Given the description of an element on the screen output the (x, y) to click on. 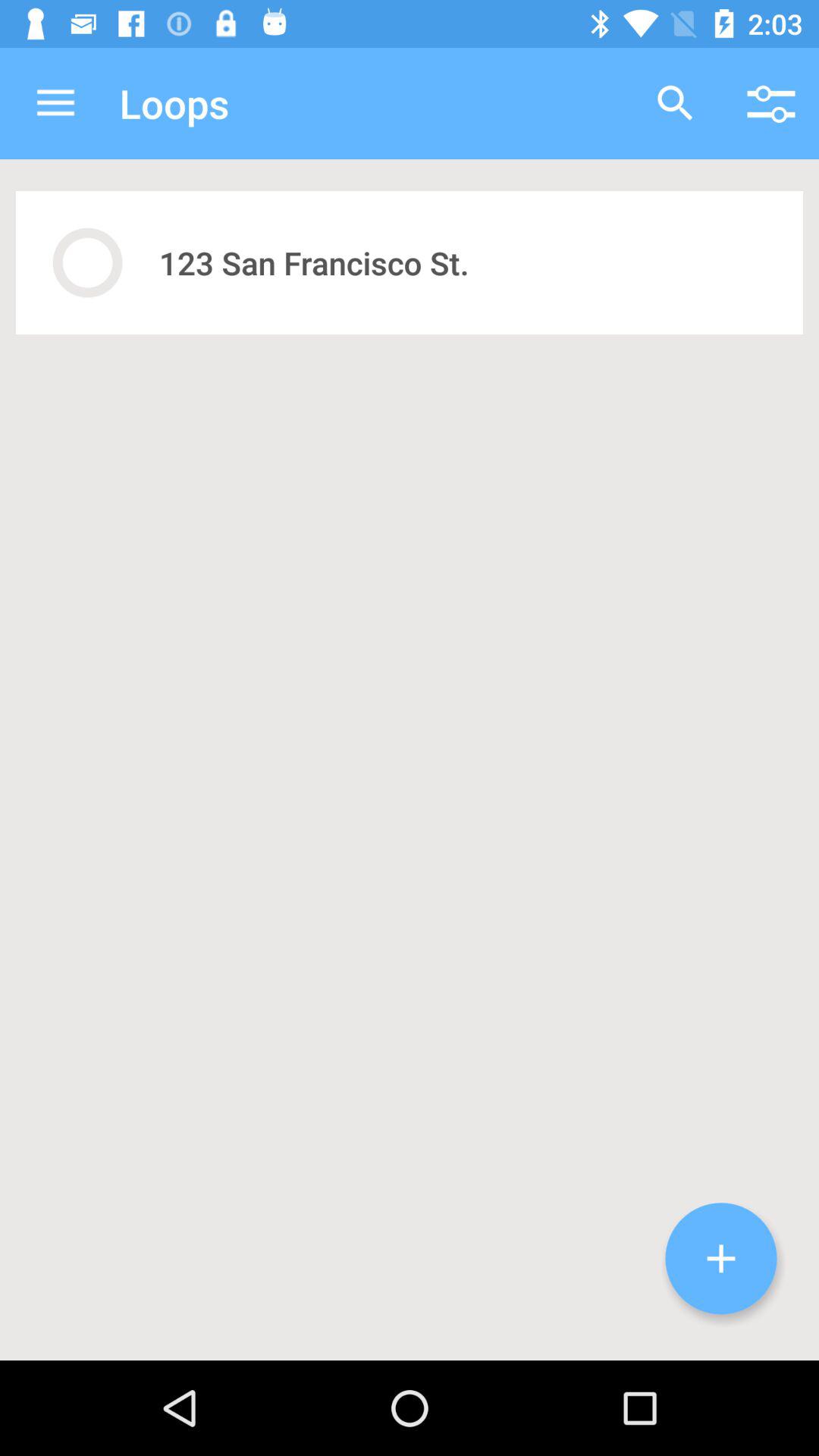
choose the item above 123 san francisco (675, 103)
